Given the description of an element on the screen output the (x, y) to click on. 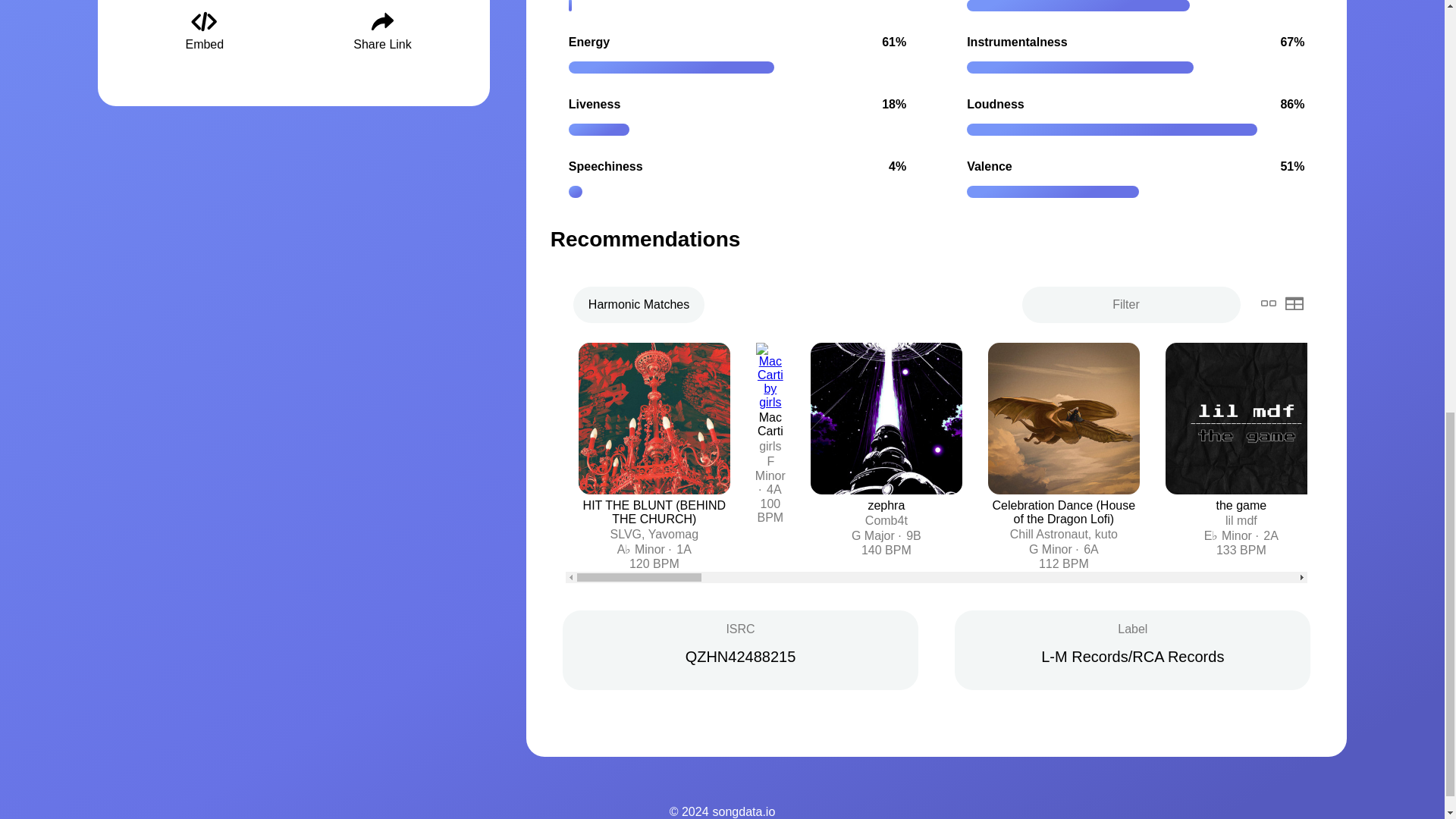
zephra (885, 504)
Mac Carti (770, 424)
the game (1240, 504)
